Given the description of an element on the screen output the (x, y) to click on. 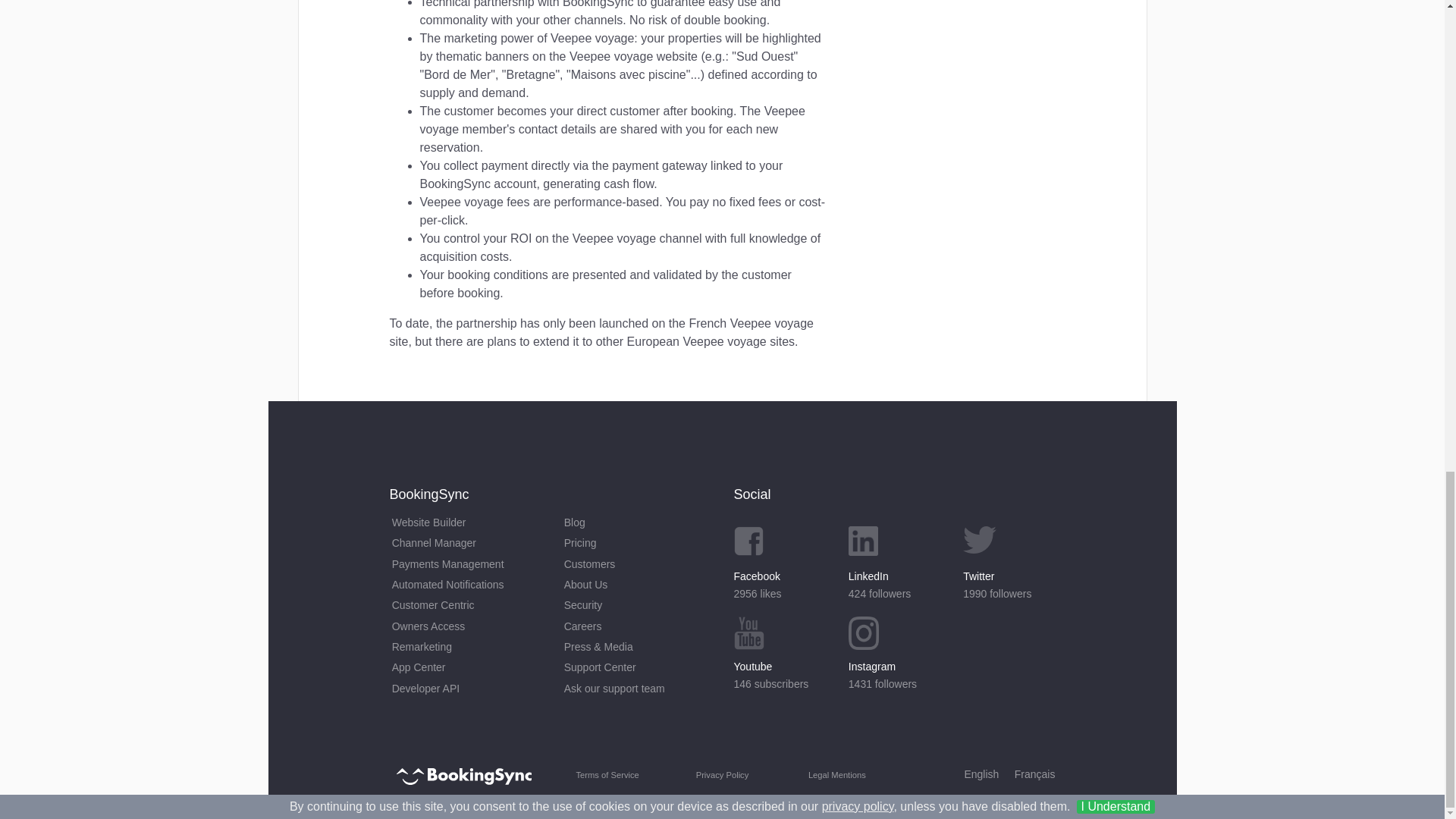
Security (894, 564)
BookingSync (635, 605)
Customers (464, 775)
Careers (635, 563)
About Us (635, 626)
Terms of Service (635, 584)
Website Builder (606, 774)
Privacy Policy (464, 522)
English (722, 774)
Pricing (980, 774)
Owners Access (635, 543)
Customer Centric (464, 626)
